Given the description of an element on the screen output the (x, y) to click on. 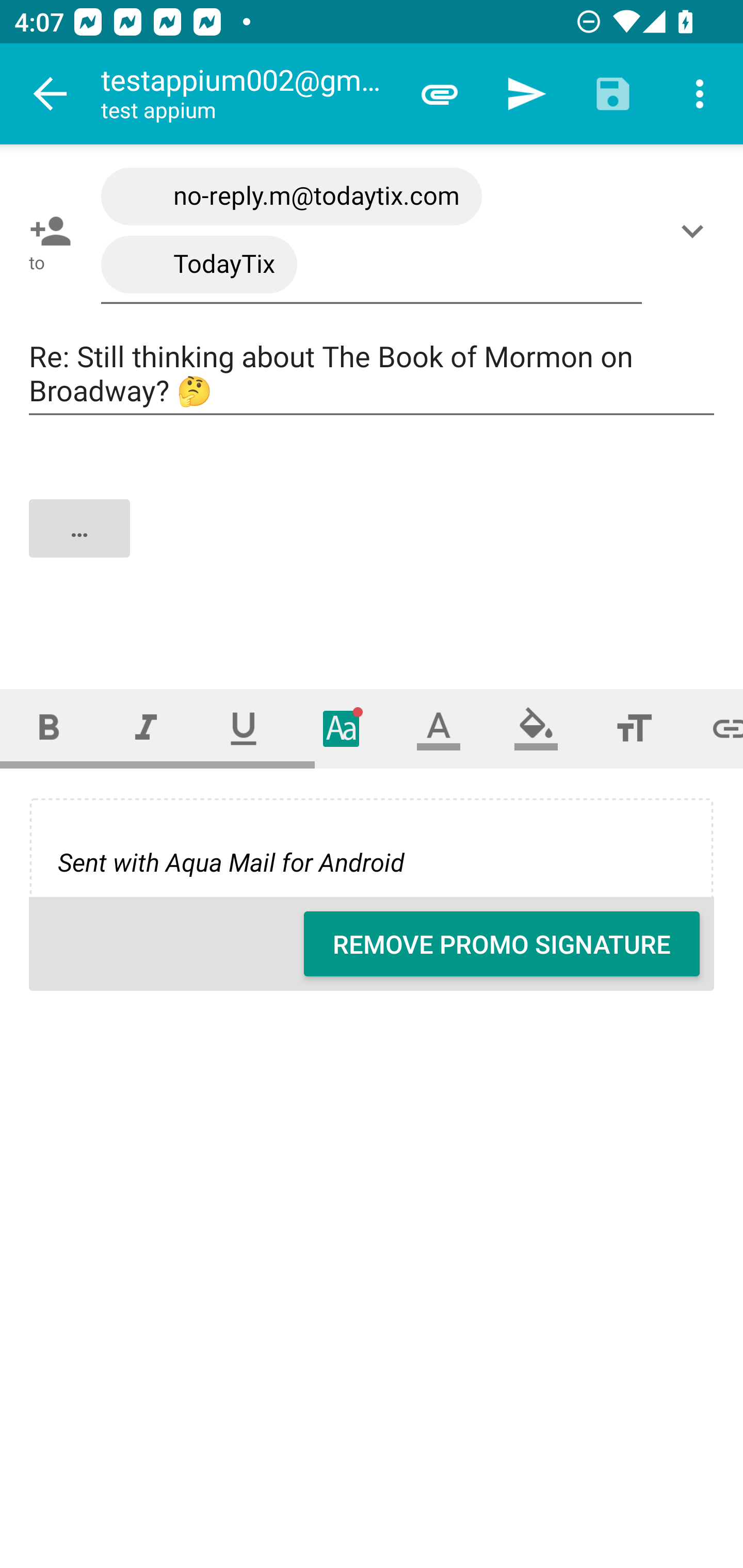
Navigate up (50, 93)
testappium002@gmail.com test appium (248, 93)
Attach (439, 93)
Send (525, 93)
Save (612, 93)
More options (699, 93)
Pick contact: To (46, 231)
Show/Add CC/BCC (696, 231)

…
 (372, 544)
Bold (48, 728)
Italic (145, 728)
Underline (243, 728)
Typeface (font) (341, 728)
Text color (438, 728)
Fill color (536, 728)
Font size (633, 728)
REMOVE PROMO SIGNATURE (501, 943)
